Given the description of an element on the screen output the (x, y) to click on. 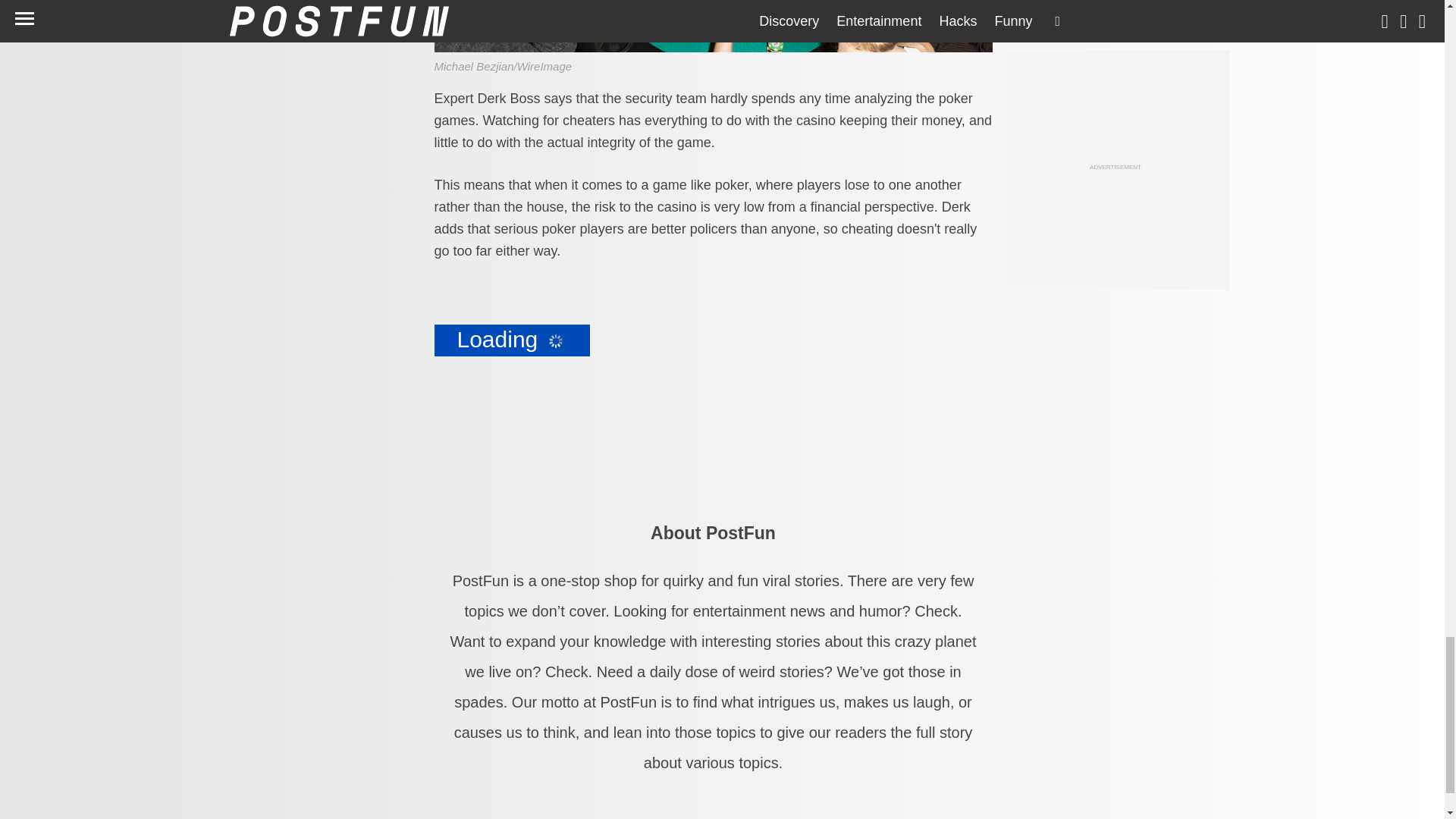
A Room Full Of Poker Players (712, 26)
